Given the description of an element on the screen output the (x, y) to click on. 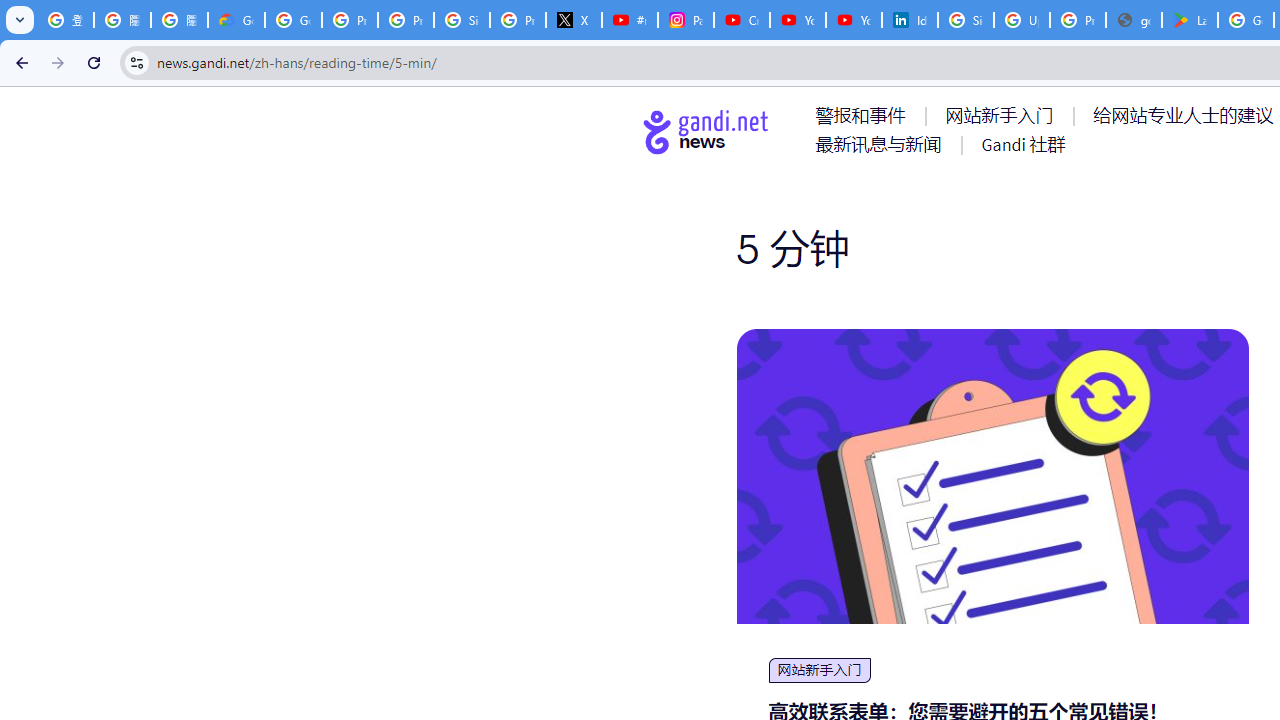
AutomationID: menu-item-77766 (882, 143)
Google Cloud Privacy Notice (235, 20)
Go to home (706, 131)
Privacy Help Center - Policies Help (405, 20)
